Given the description of an element on the screen output the (x, y) to click on. 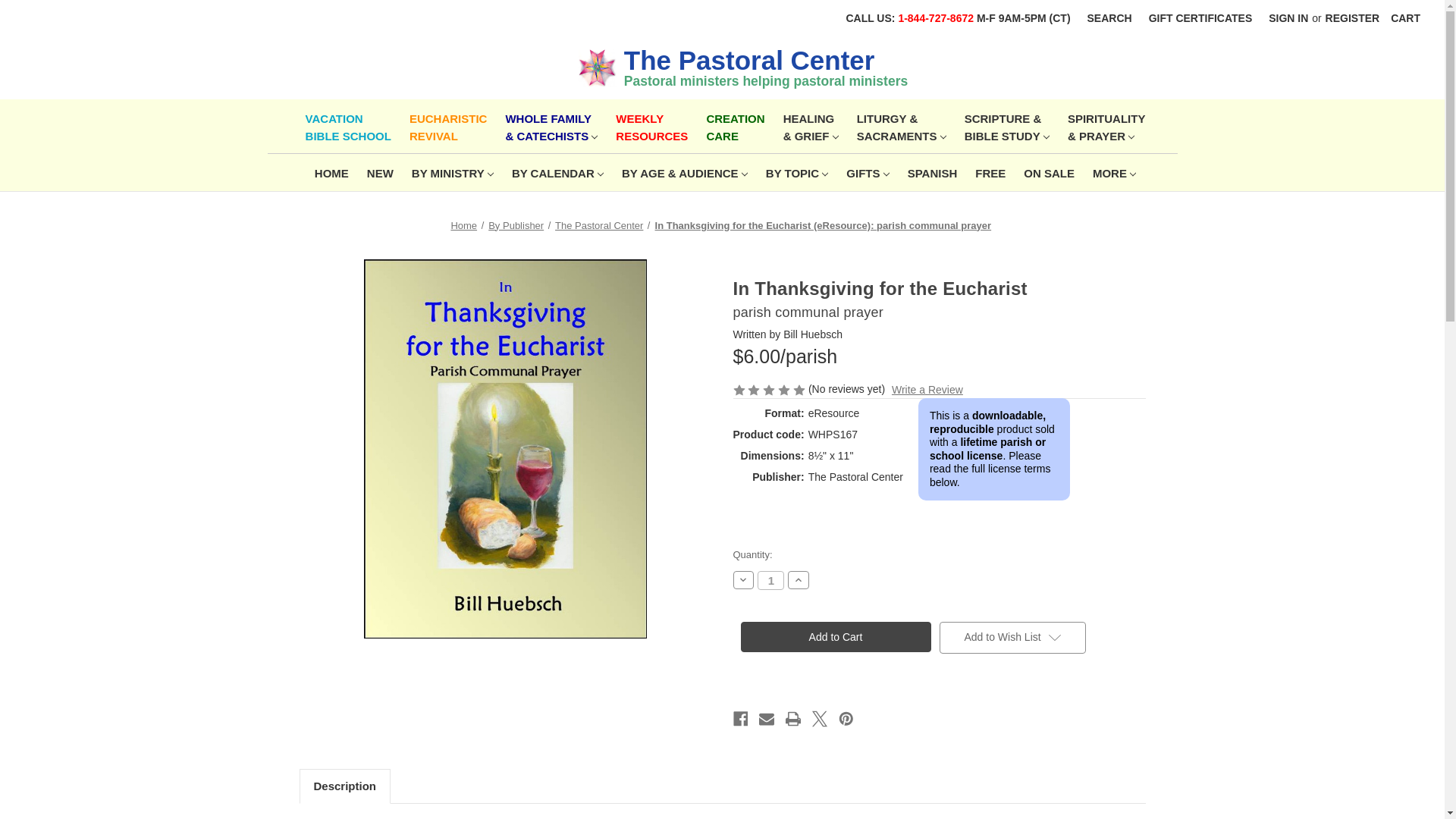
GIFT CERTIFICATES (1200, 18)
Pinterest (845, 718)
CART (1404, 18)
Email (766, 718)
REGISTER (1353, 18)
1 (770, 579)
Print (793, 718)
SIGN IN (445, 126)
SEARCH (1288, 18)
Add to Cart (345, 126)
Facebook (1109, 18)
PayPal (834, 636)
